Given the description of an element on the screen output the (x, y) to click on. 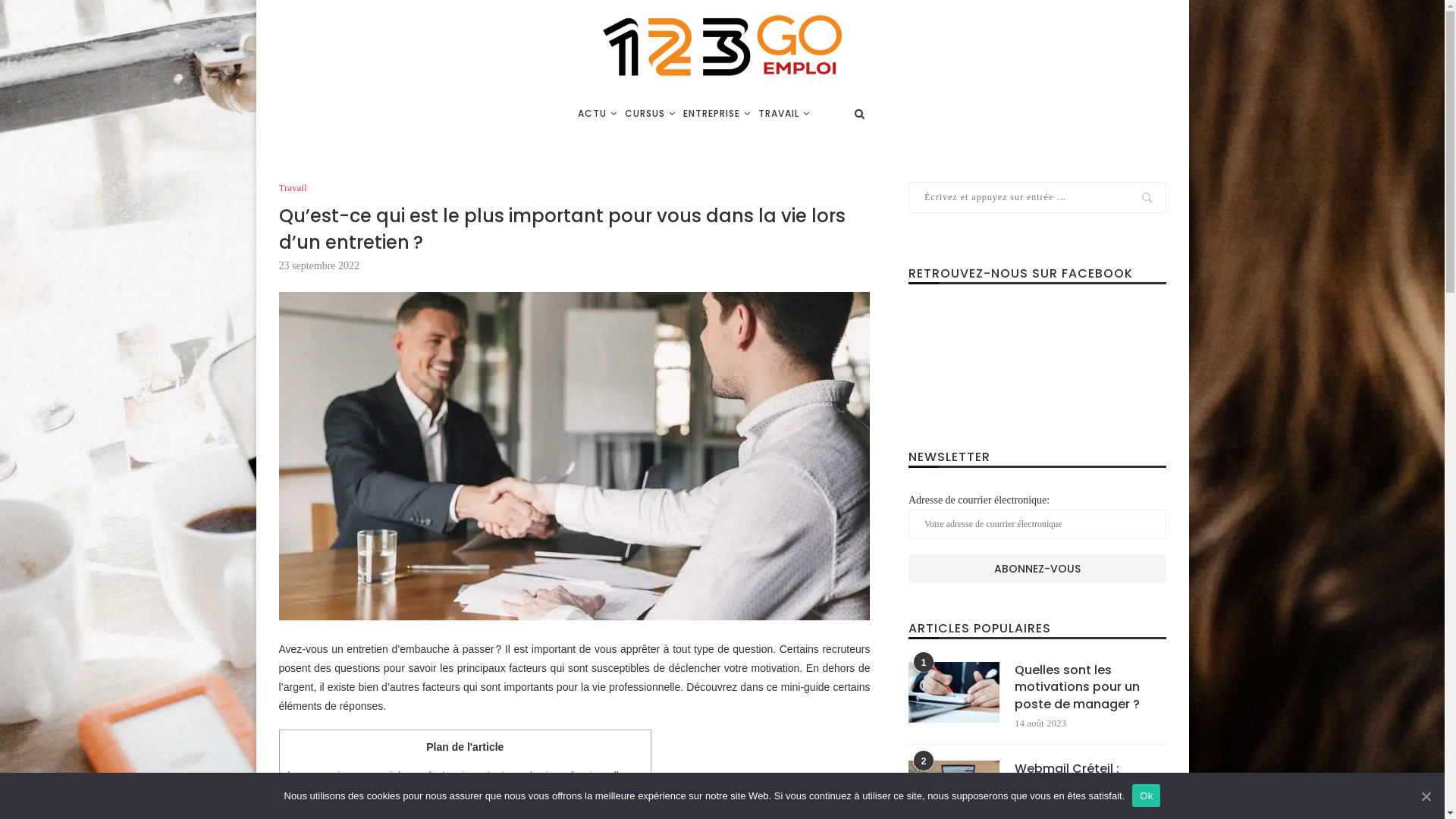
Travail Element type: text (293, 188)
Ok Element type: text (1146, 795)
Page Facebook Element type: hover (1037, 356)
ENTREPRISE Element type: text (716, 113)
Quelles sont les motivations pour un poste de manager ? Element type: text (1090, 687)
CURSUS Element type: text (649, 113)
TRAVAIL Element type: text (783, 113)
Quelles sont les motivations pour un poste de manager ? Element type: hover (953, 692)
Abonnez-vous Element type: text (1037, 568)
ACTU Element type: text (597, 113)
